Given the description of an element on the screen output the (x, y) to click on. 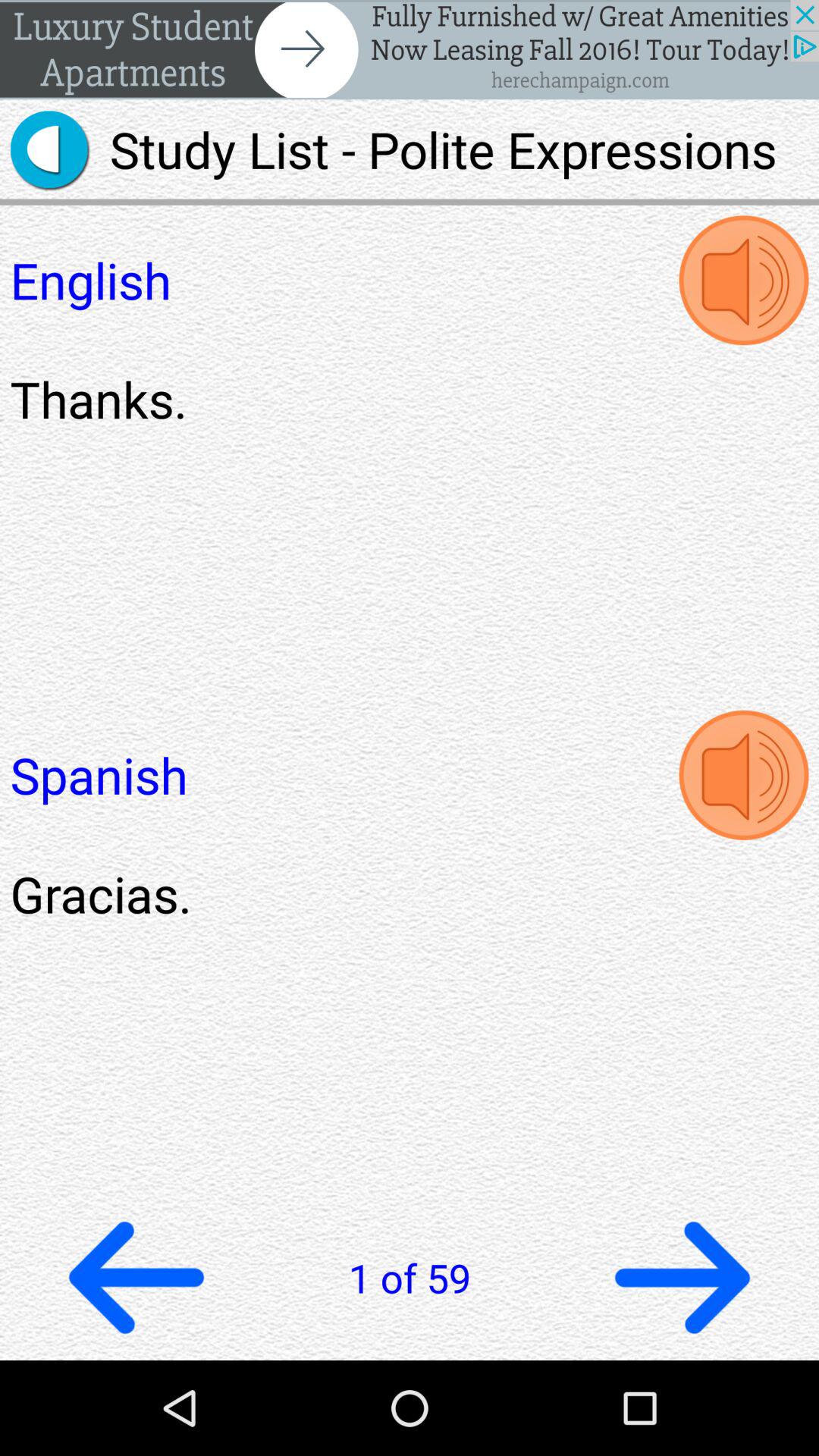
advertisement panel (409, 49)
